Given the description of an element on the screen output the (x, y) to click on. 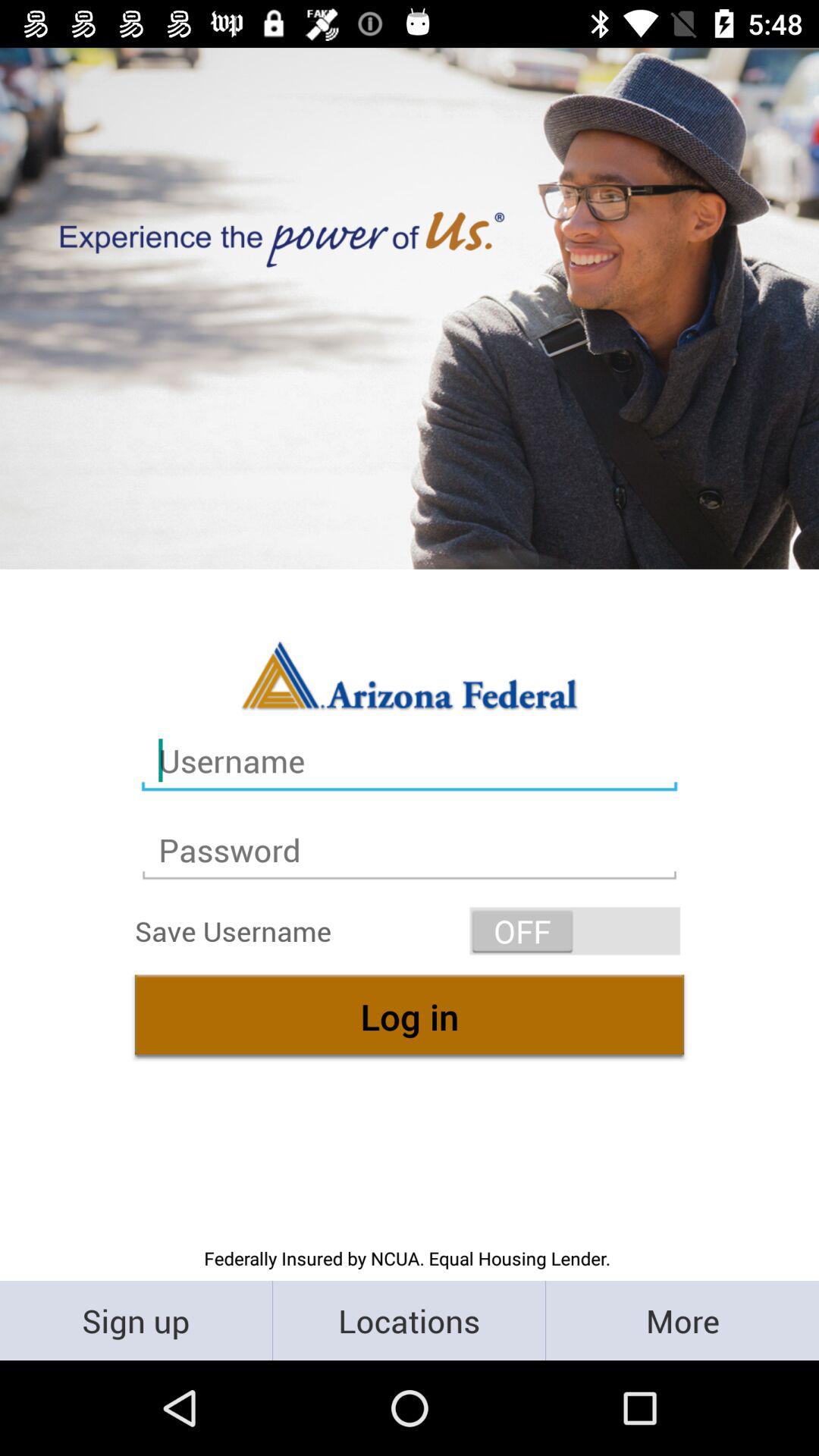
turn on icon above the federally insured by icon (409, 1016)
